Given the description of an element on the screen output the (x, y) to click on. 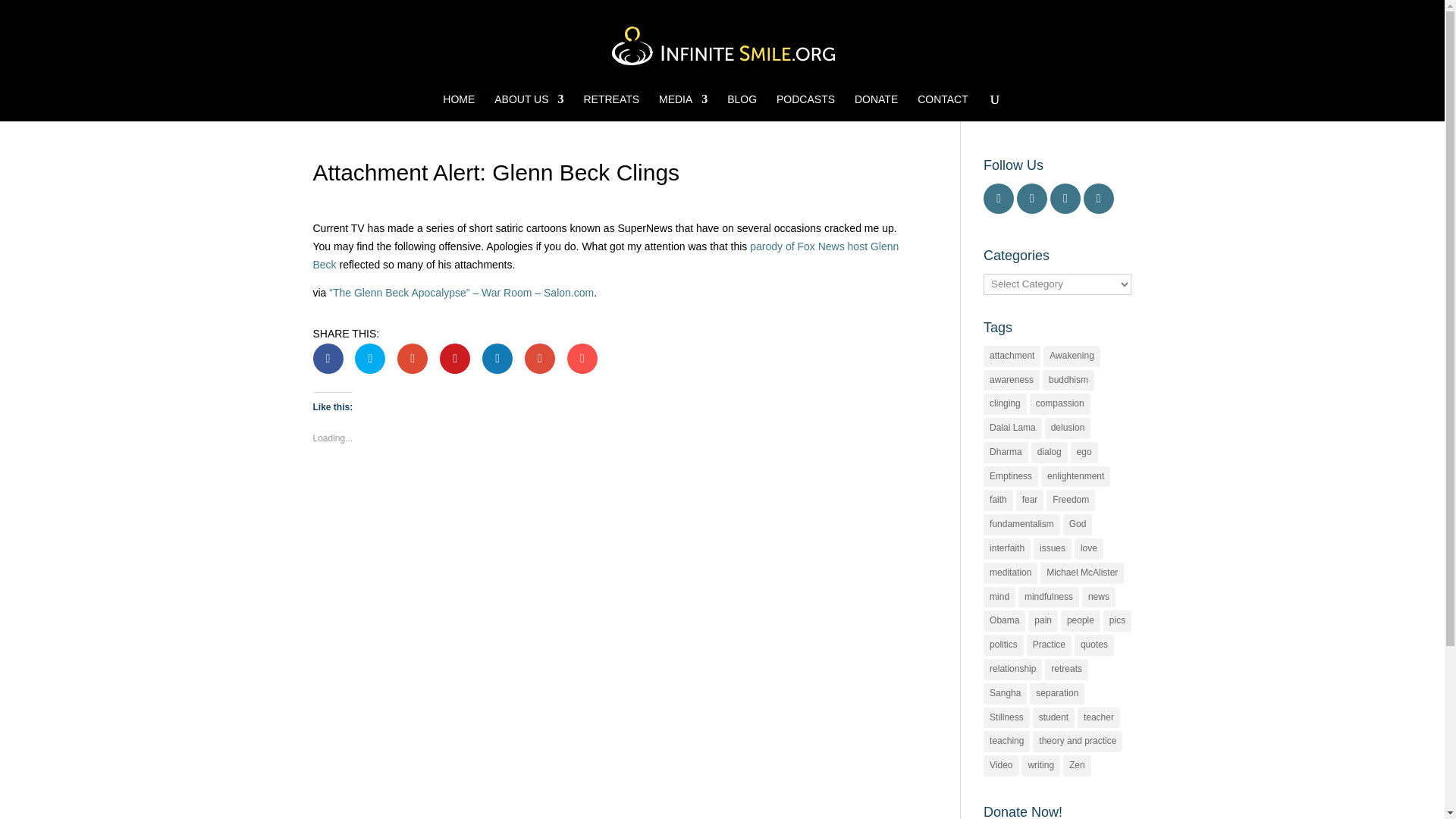
Awakening (1071, 355)
attachment (1012, 355)
CONTACT (942, 107)
Dharma (1005, 452)
PODCASTS (805, 107)
HOME (458, 107)
DONATE (876, 107)
clinging (1005, 403)
Emptiness (1011, 476)
delusion (1067, 427)
